Given the description of an element on the screen output the (x, y) to click on. 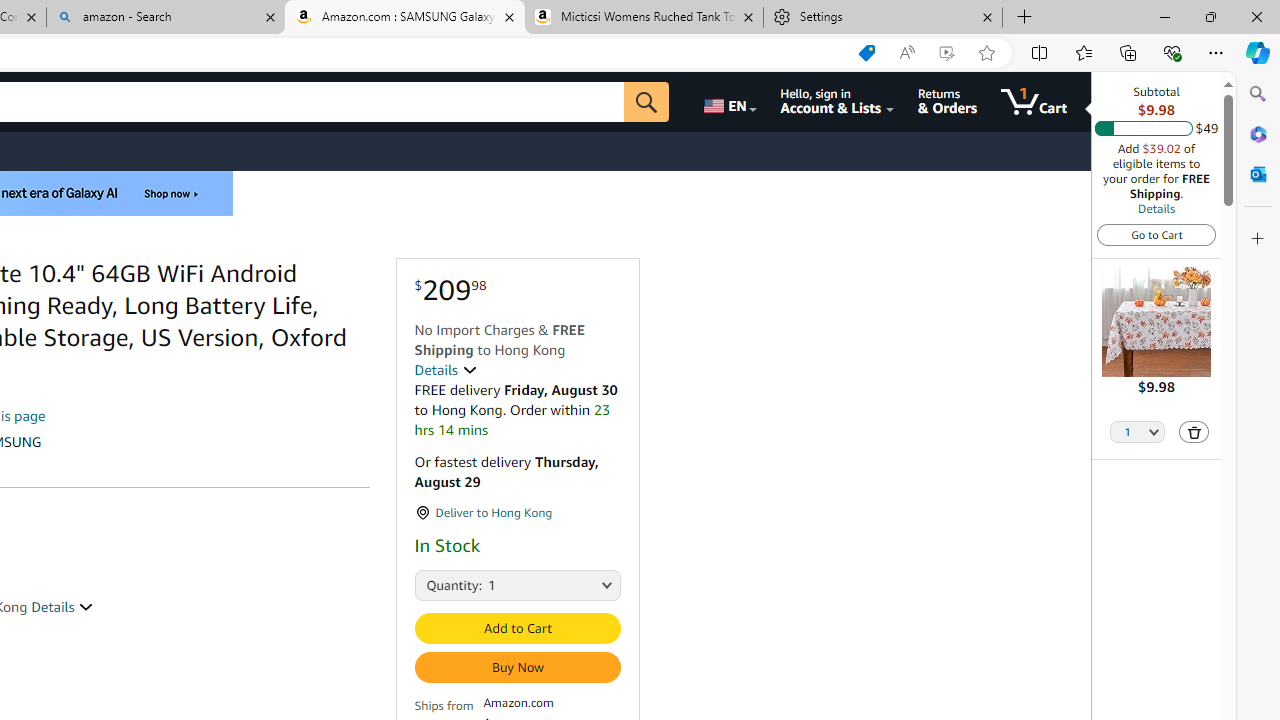
amazon - Search (166, 17)
Hello, sign in Account & Lists (836, 101)
Details (1156, 208)
Delete (1193, 431)
